Given the description of an element on the screen output the (x, y) to click on. 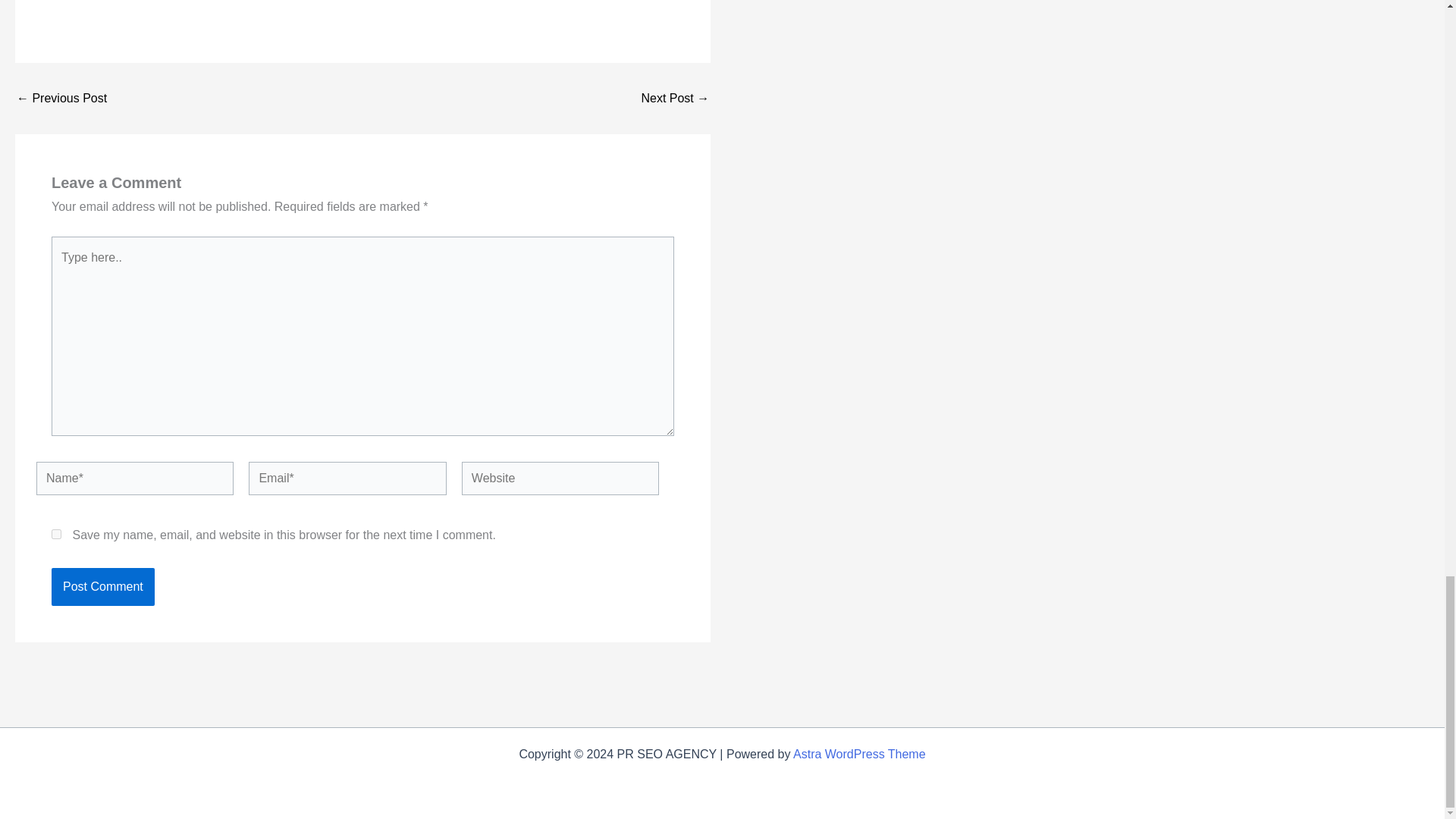
Post Comment (102, 587)
rce07 Error US Visa Scheduling (61, 98)
Post Comment (102, 587)
yes (55, 533)
